Given the description of an element on the screen output the (x, y) to click on. 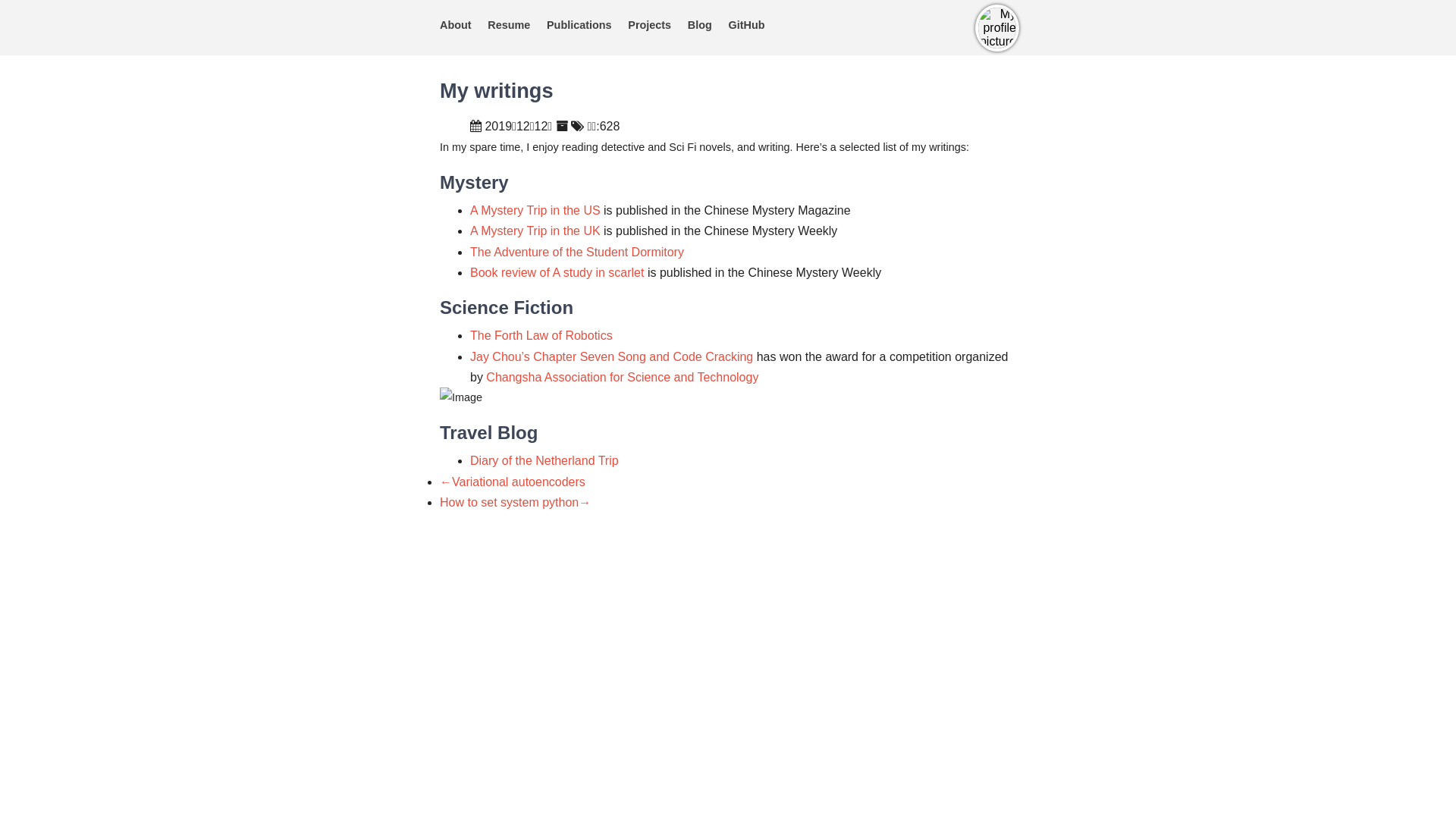
The Adventure of the Student Dormitory Element type: text (577, 251)
Projects Element type: text (649, 26)
About Element type: text (455, 26)
Diary of the Netherland Trip Element type: text (544, 460)
Changsha Association for Science and Technology Element type: text (622, 376)
Book review of A study in scarlet Element type: text (556, 272)
The Forth Law of Robotics Element type: text (541, 335)
Resume Element type: text (508, 26)
Publications Element type: text (578, 26)
GitHub Element type: text (746, 26)
A Mystery Trip in the UK Element type: text (535, 230)
A Mystery Trip in the US Element type: text (535, 209)
Blog Element type: text (699, 26)
